Given the description of an element on the screen output the (x, y) to click on. 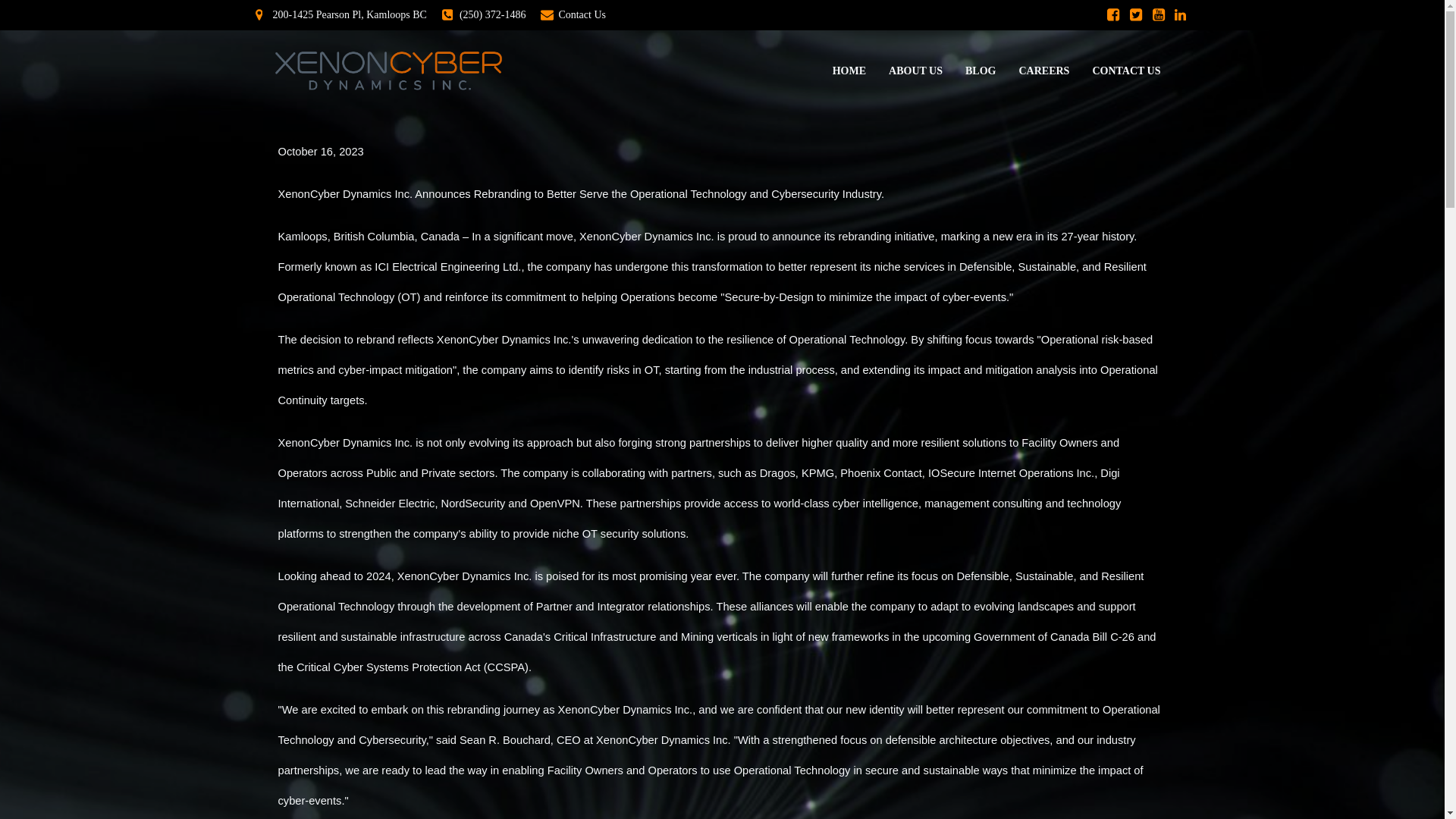
HOME (849, 70)
CONTACT US (1126, 70)
Contact Us (572, 15)
BLOG (980, 70)
CAREERS (1042, 70)
ABOUT US (915, 70)
